Given the description of an element on the screen output the (x, y) to click on. 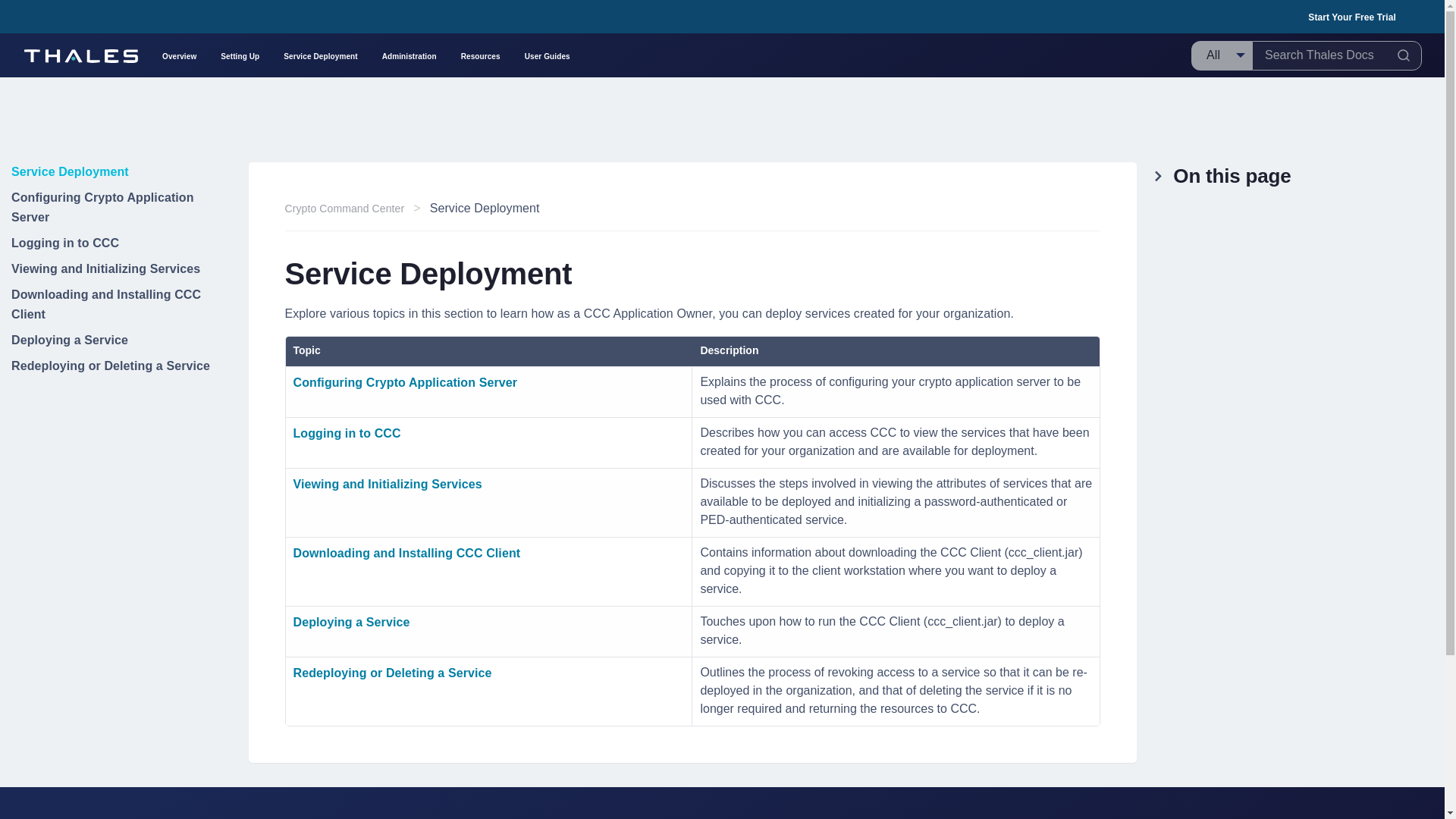
Start Your Free Trial (1351, 17)
Resources (480, 54)
Administration (408, 54)
Service Deployment (319, 54)
